Given the description of an element on the screen output the (x, y) to click on. 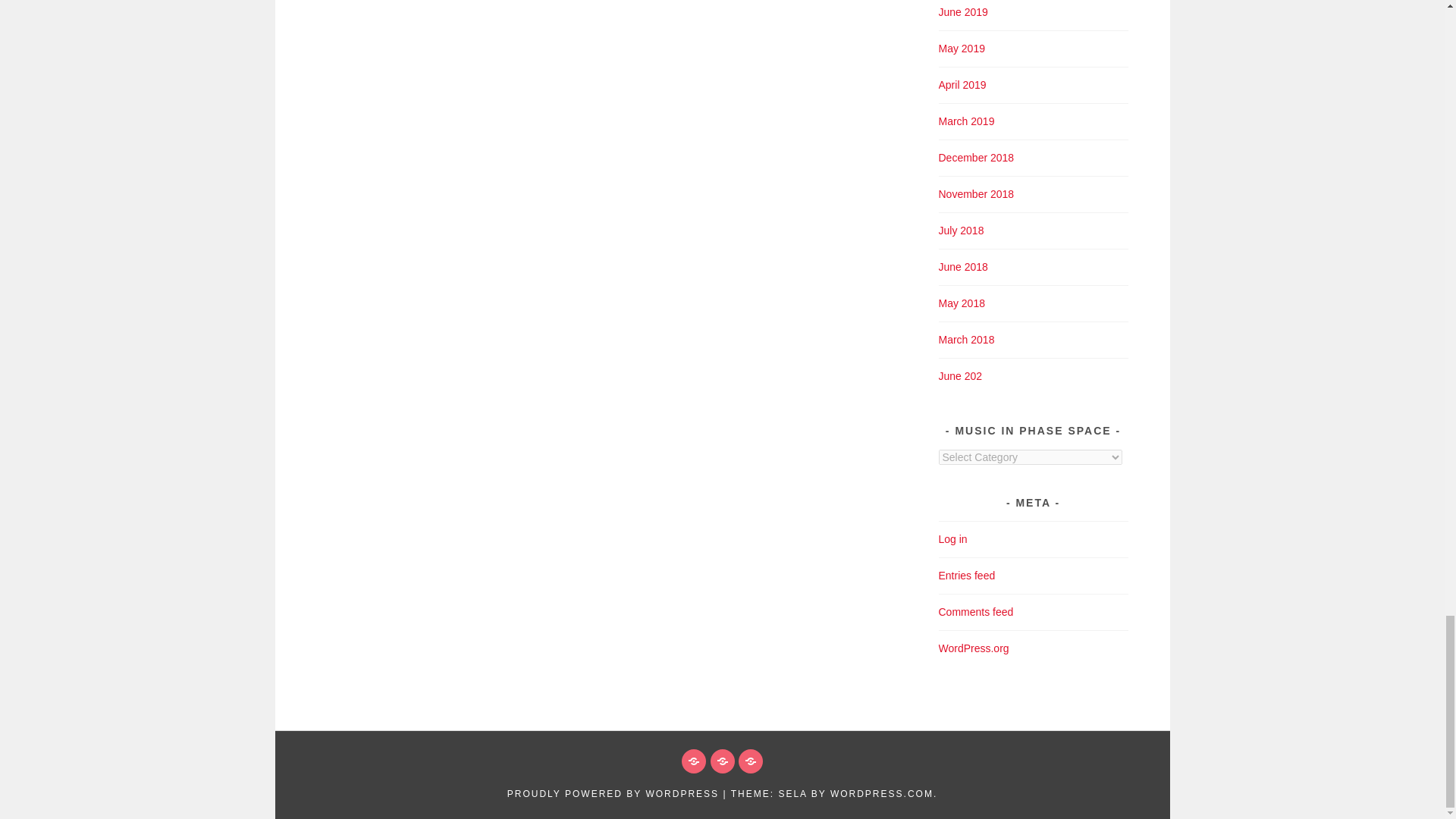
A Semantic Personal Publishing Platform (612, 793)
